Given the description of an element on the screen output the (x, y) to click on. 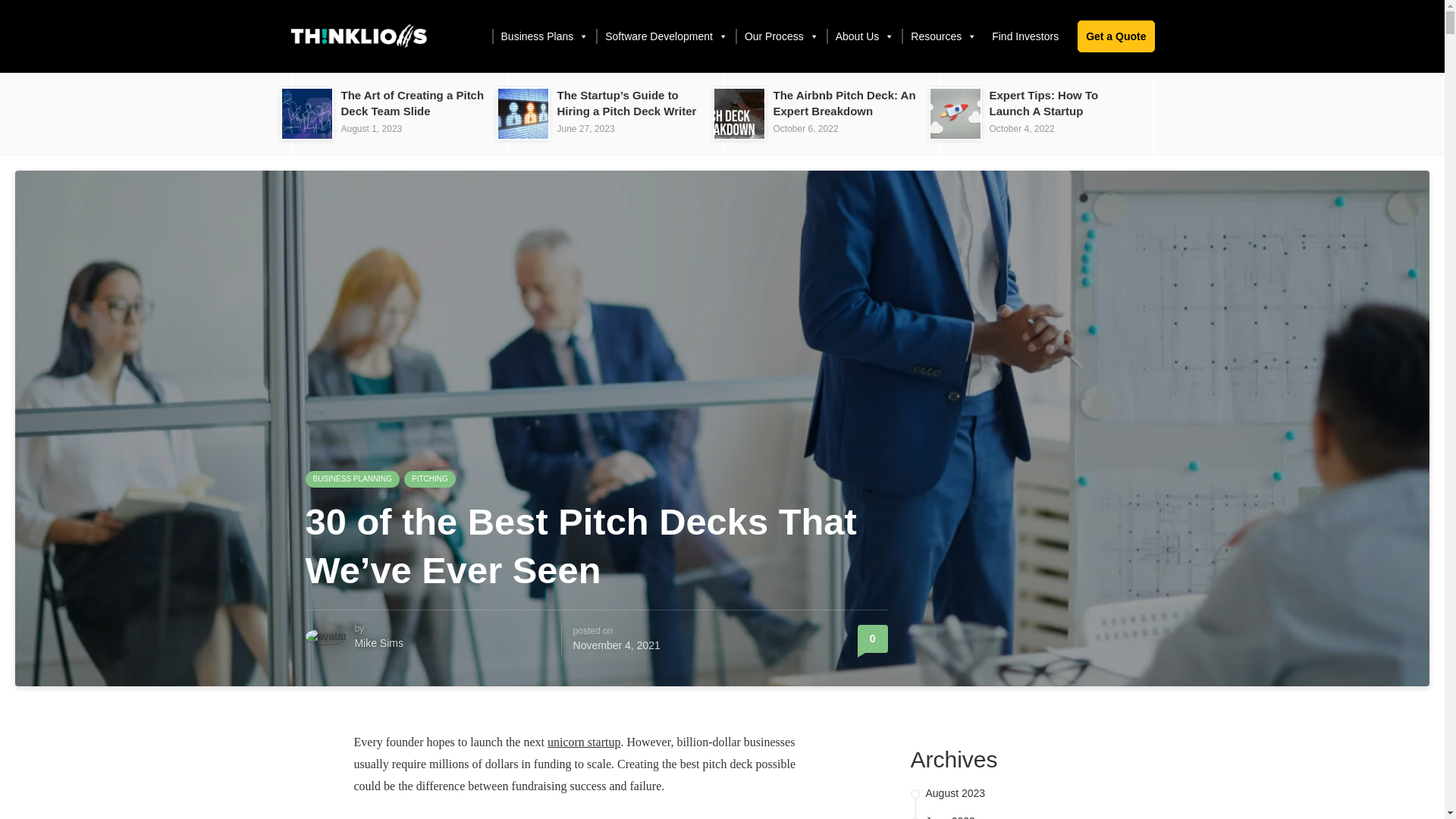
The Airbnb Pitch Deck: An Expert Breakdown (844, 102)
Comment (872, 638)
June 27, 2023 (585, 128)
Expert Tips: How To Launch A Startup (1042, 102)
Get a Quote (1115, 36)
The Art of Creating a Pitch Deck Team Slide (412, 102)
0 (872, 638)
Startup Squared (357, 35)
August 1, 2023 (371, 128)
BUSINESS PLANNING (351, 478)
Mike Sims (378, 643)
Business Plans (544, 36)
View all posts in Business Planning (351, 478)
unicorn startup (583, 741)
Resources (942, 36)
